Given the description of an element on the screen output the (x, y) to click on. 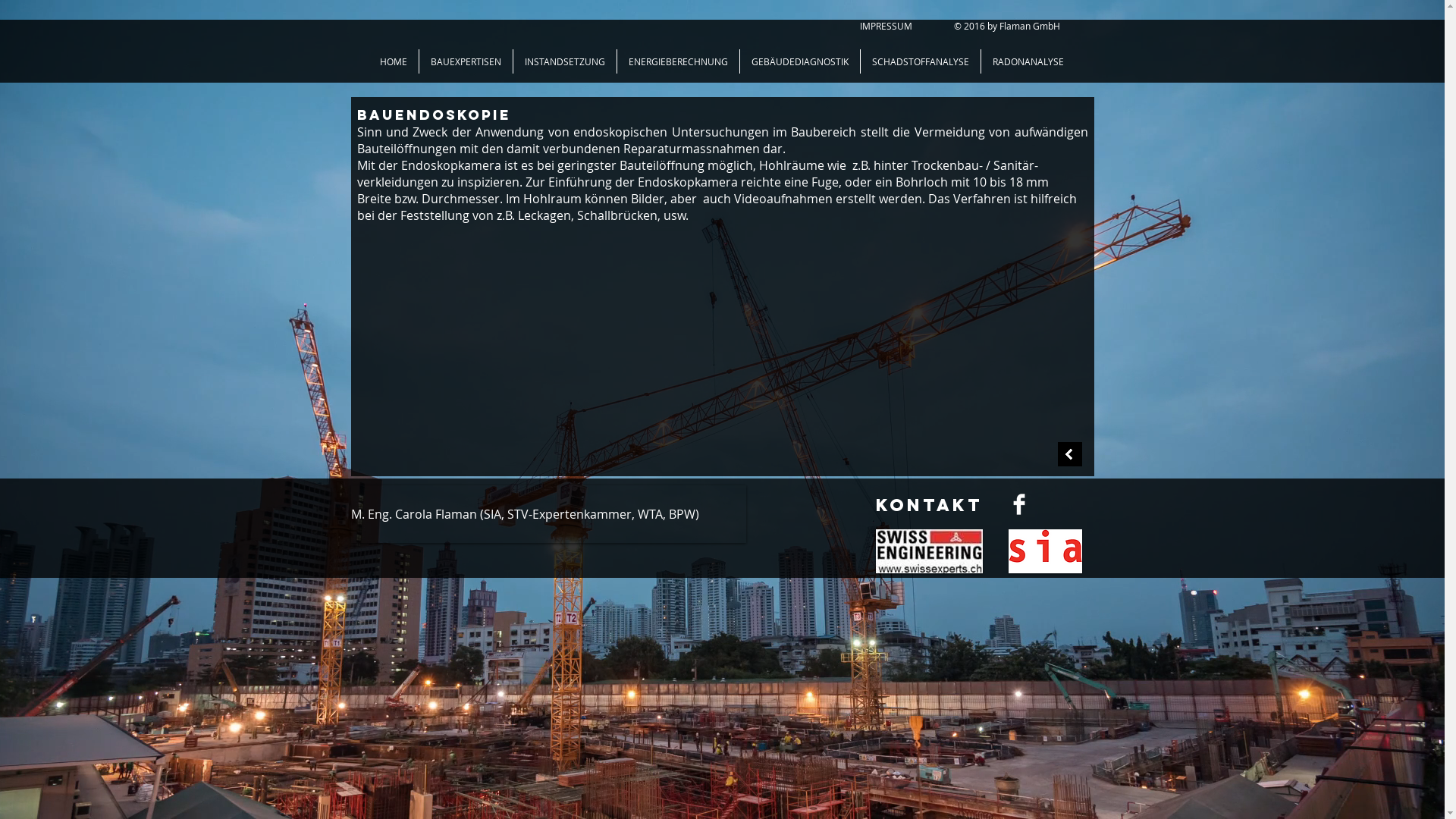
ENERGIEBERECHNUNG Element type: text (678, 61)
SCHADSTOFFANALYSE Element type: text (920, 61)
HOME Element type: text (393, 61)
RADONANALYSE Element type: text (1028, 61)
KONTAKT Element type: text (928, 504)
IMPRESSUM Element type: text (884, 25)
INSTANDSETZUNG Element type: text (564, 61)
BAUEXPERTISEN Element type: text (465, 61)
M. Eng. Carola Flaman (SIA, STV-Expertenkammer, WTA, BPW) Element type: text (547, 513)
